Given the description of an element on the screen output the (x, y) to click on. 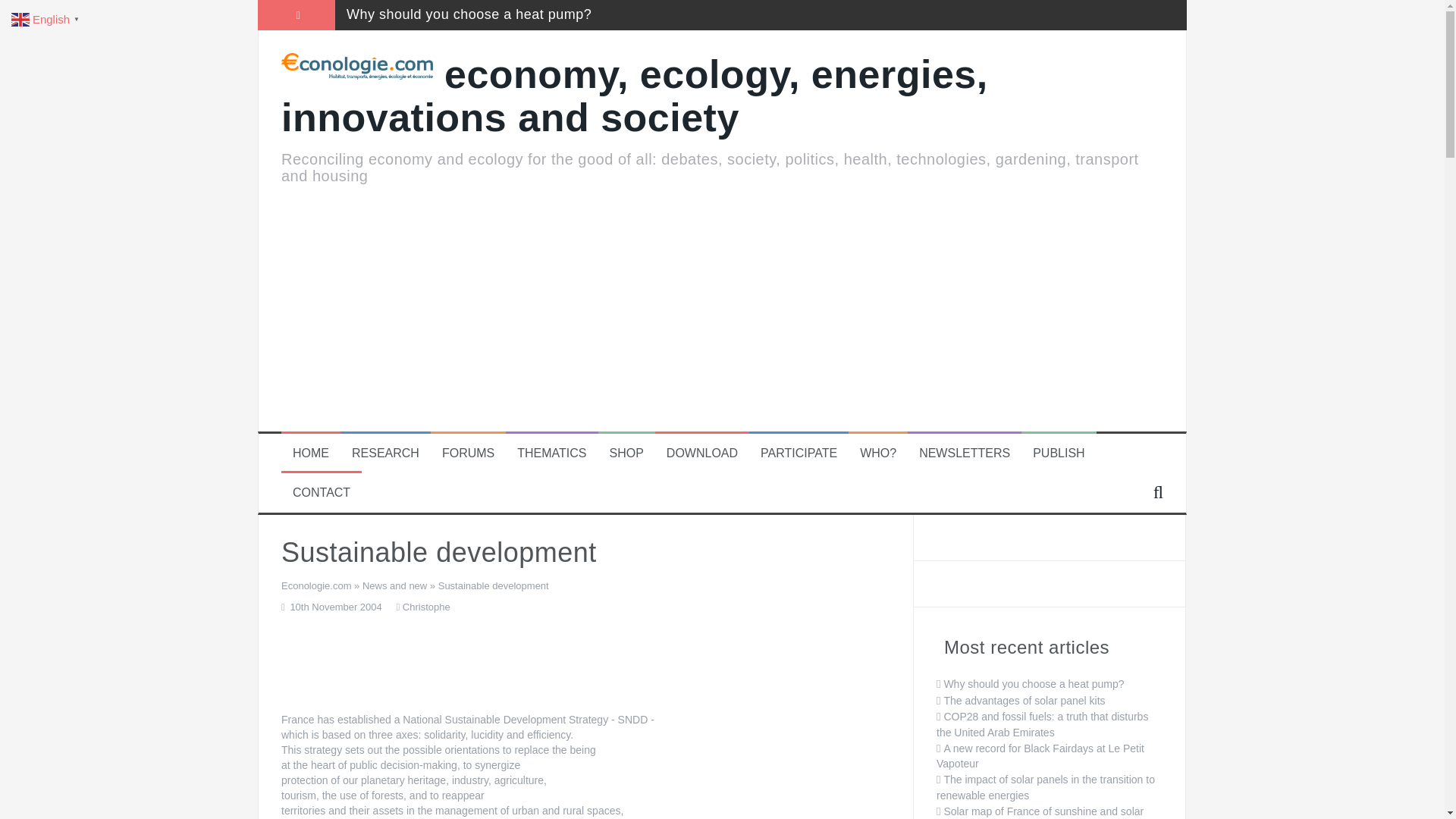
HOME (310, 453)
Home page (310, 453)
RESEARCH (385, 453)
Help develop the site (798, 453)
economy, ecology, energies, innovations and society (634, 95)
FORUMS (468, 453)
